Given the description of an element on the screen output the (x, y) to click on. 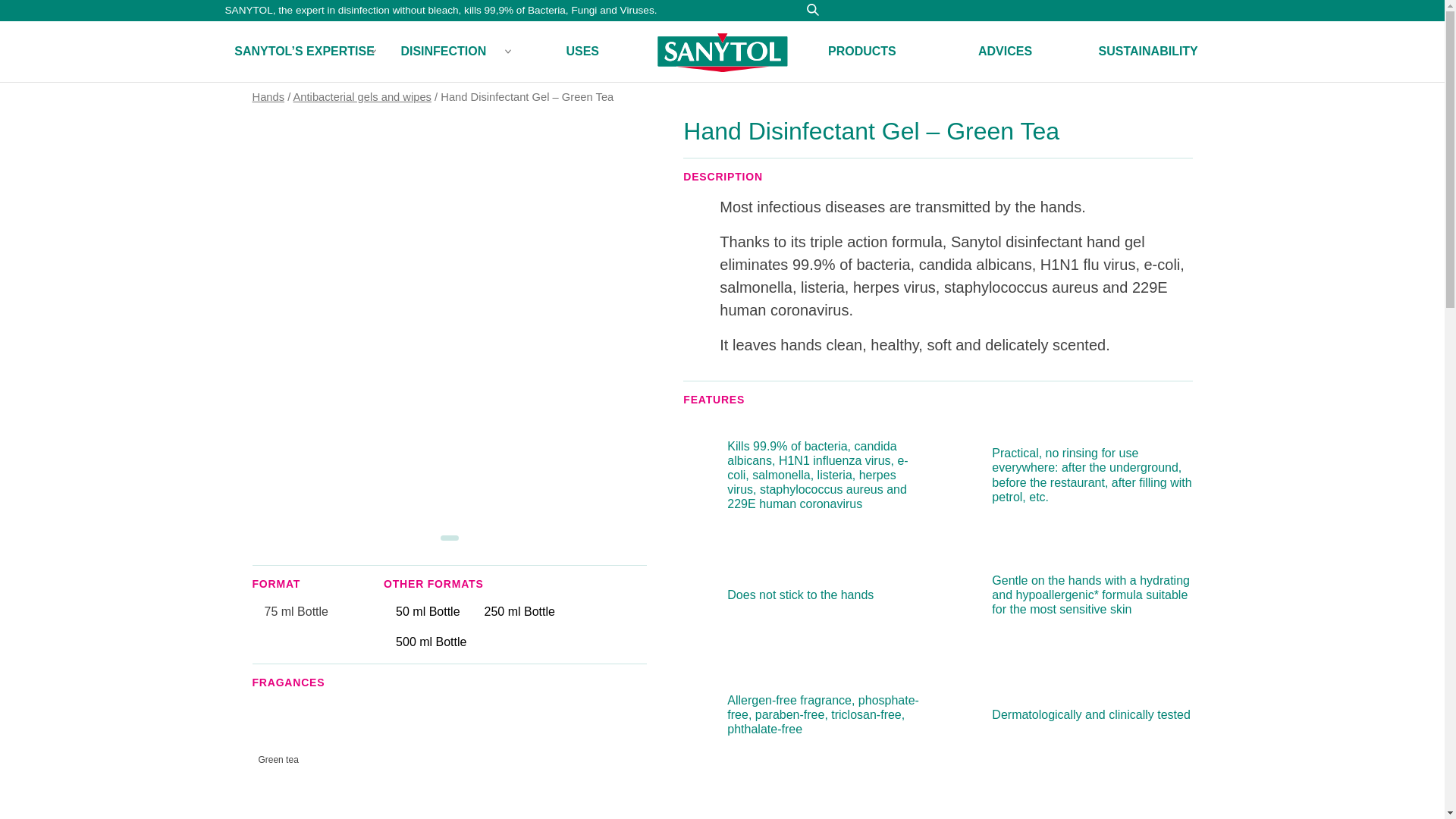
SUSTAINABILITY (1148, 51)
USES (582, 51)
50 ml Bottle (428, 611)
500 ml Bottle (430, 641)
Search (812, 9)
PRODUCTS (862, 51)
Antibacterial gels and wipes (362, 96)
Sanytol (721, 51)
ADVICES (1005, 51)
250 ml Bottle (519, 611)
